Given the description of an element on the screen output the (x, y) to click on. 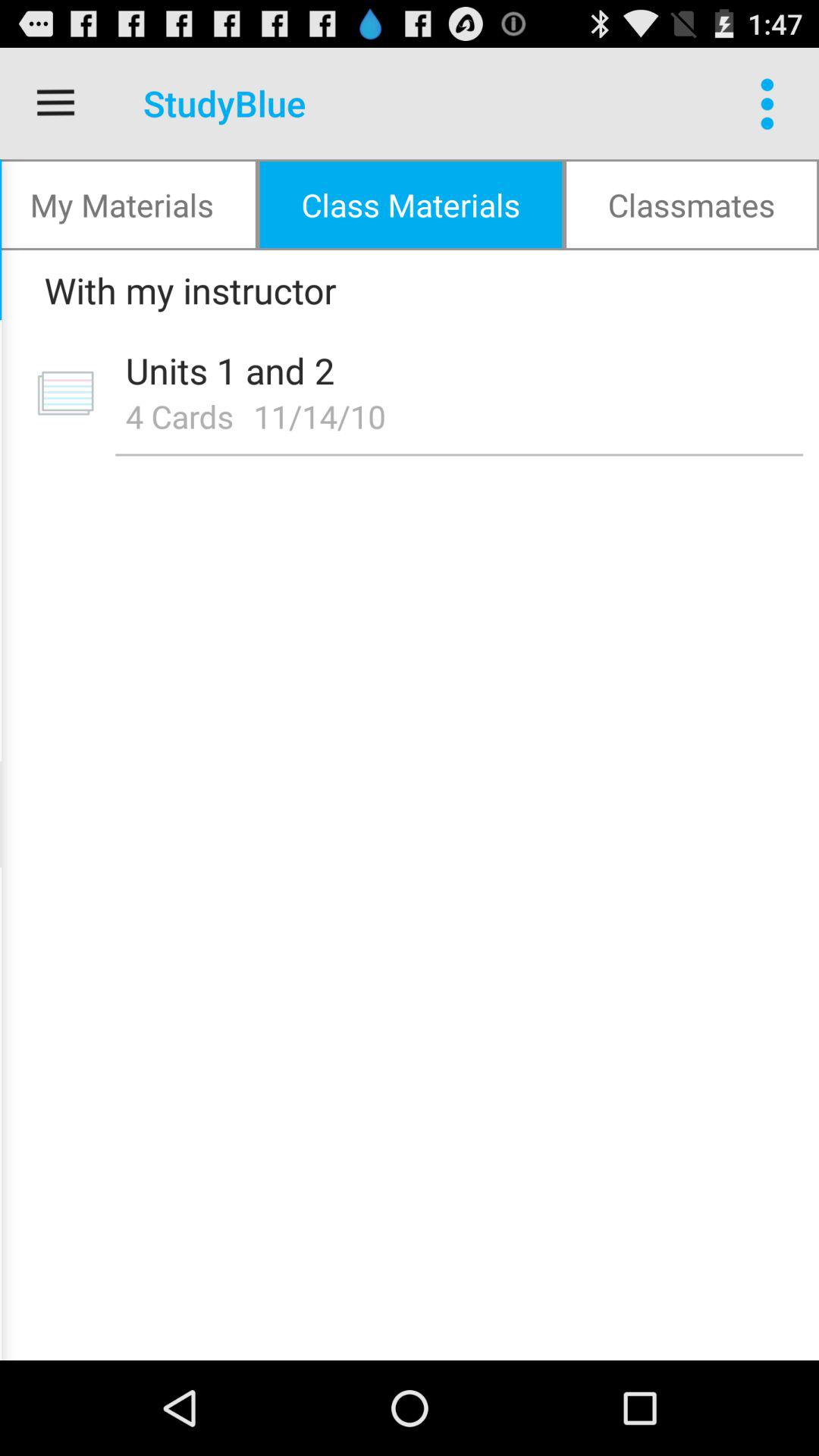
select the 4 cards (179, 415)
